Given the description of an element on the screen output the (x, y) to click on. 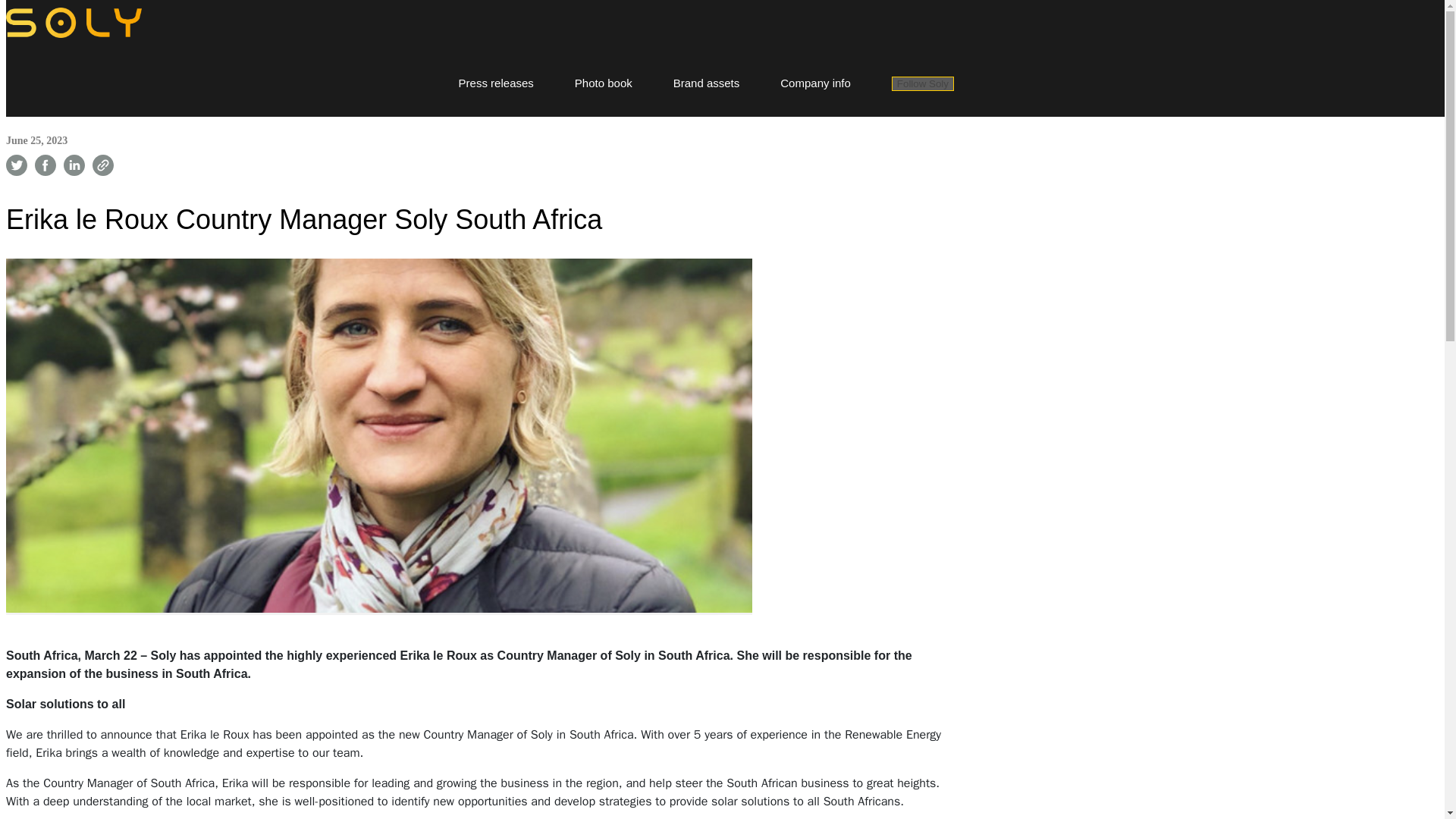
Share on Linkedin (74, 165)
Click to copy URL (103, 165)
Press releases (496, 82)
Photo book (603, 82)
Brand assets (705, 82)
Company info (815, 82)
Follow Soly (922, 83)
Back to overview (54, 98)
Share on Twitter (16, 165)
Share on Facebook (45, 165)
